Given the description of an element on the screen output the (x, y) to click on. 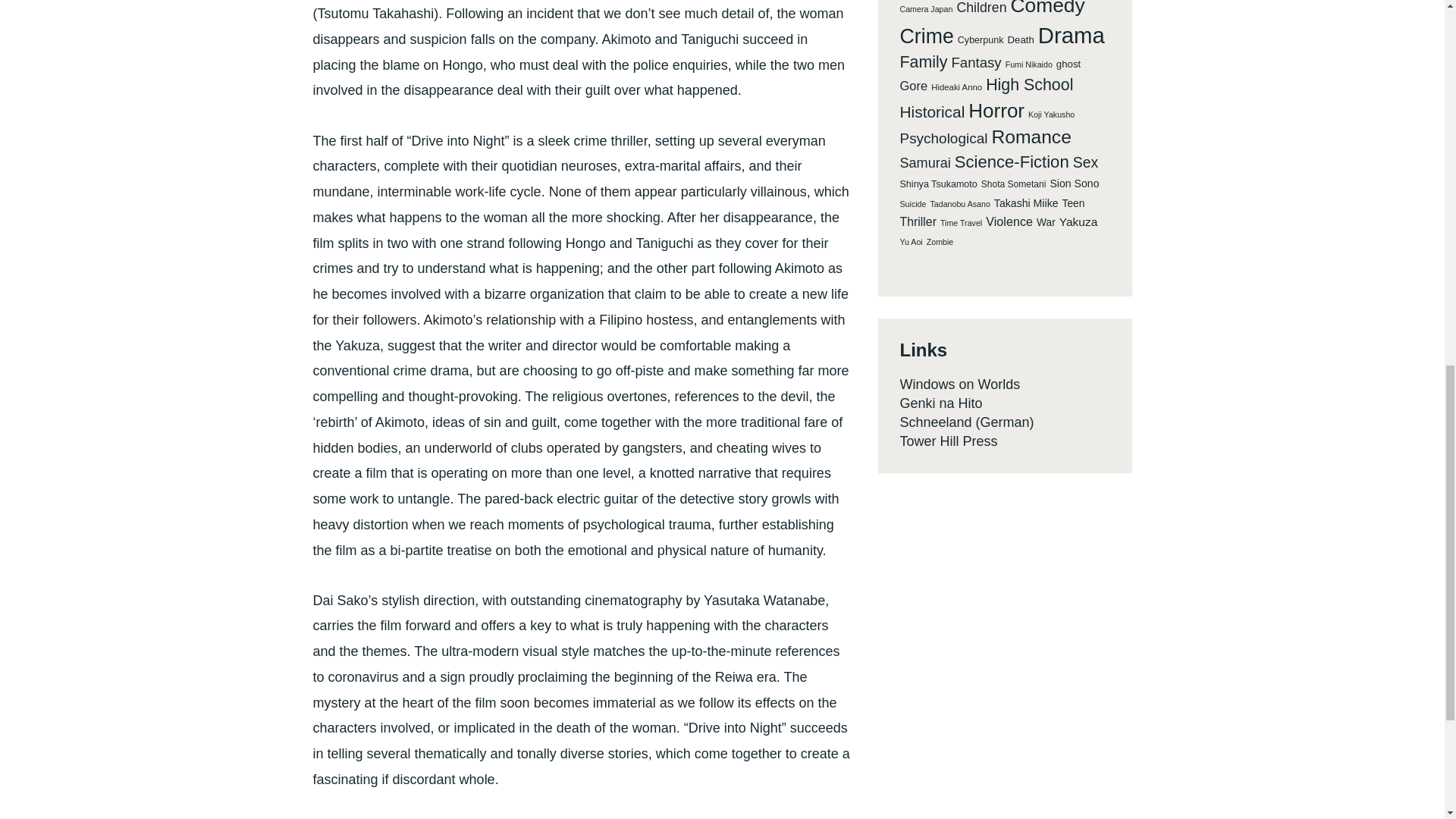
Drama (1071, 34)
Family (923, 62)
Camera Japan (925, 9)
Crime (926, 36)
Death (1020, 40)
Children (981, 8)
Cyberpunk (981, 40)
Comedy (1047, 9)
